Given the description of an element on the screen output the (x, y) to click on. 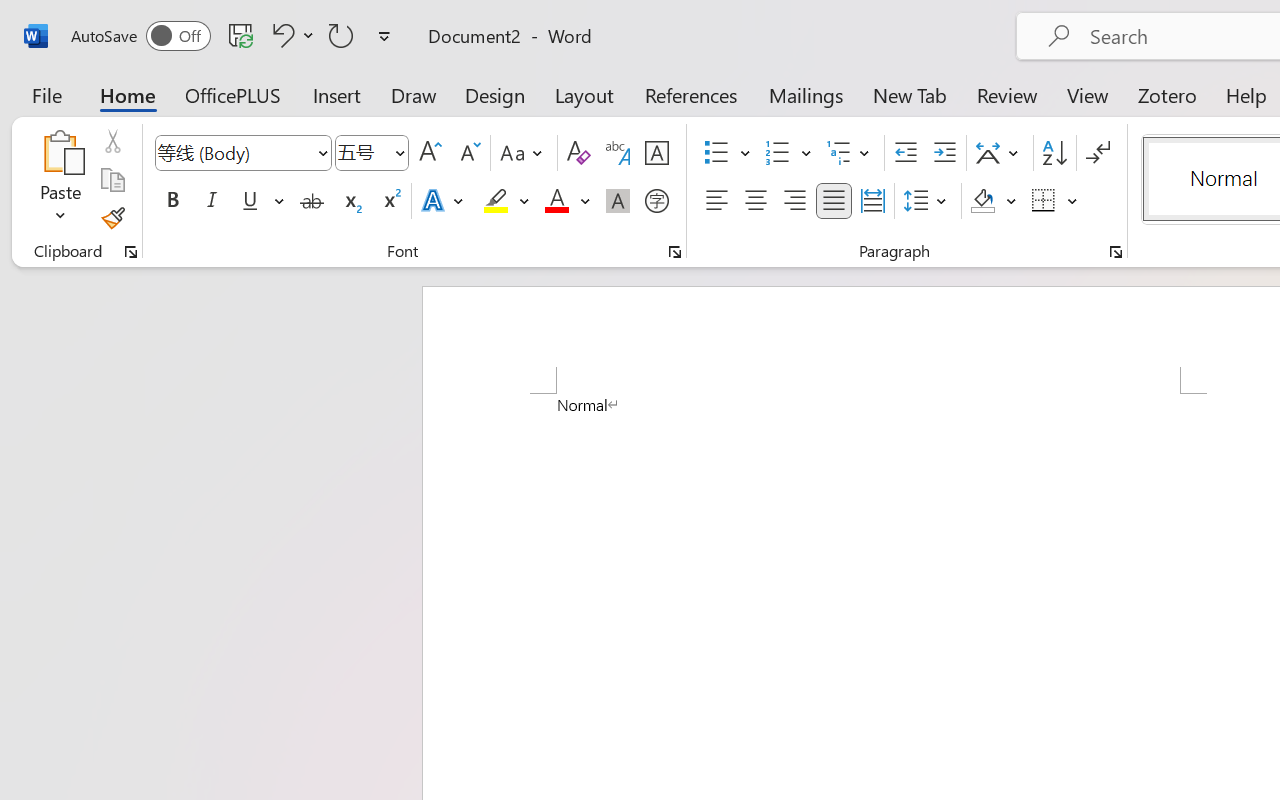
Multilevel List (850, 153)
Center (756, 201)
Text Highlight Color Yellow (495, 201)
Mailings (806, 94)
Font (234, 152)
Draw (413, 94)
Shading (993, 201)
Asian Layout (1000, 153)
Underline (261, 201)
Show/Hide Editing Marks (1098, 153)
Numbering (788, 153)
Font Color (567, 201)
More Options (1073, 201)
